Given the description of an element on the screen output the (x, y) to click on. 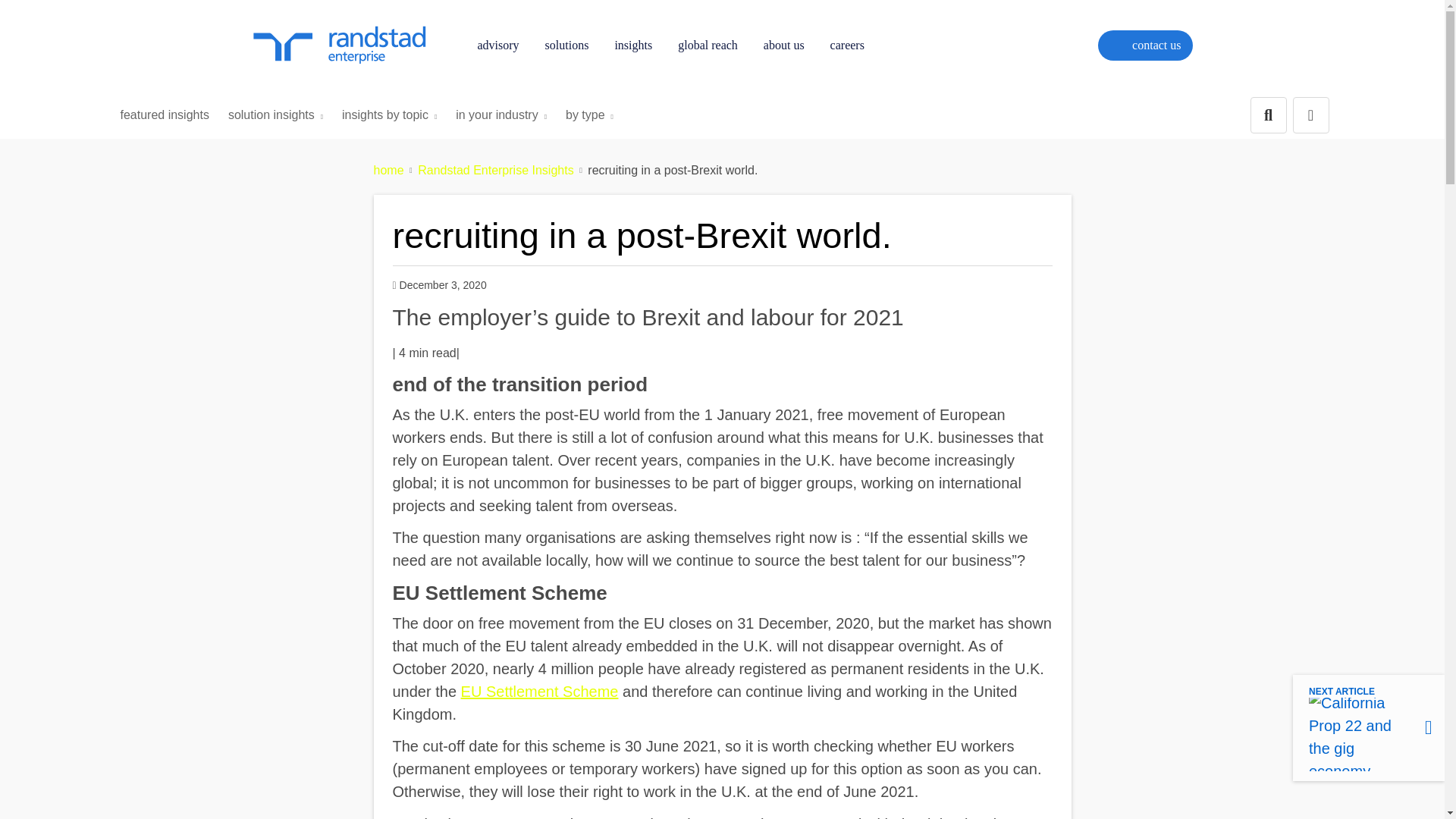
our solutions (566, 44)
advisory (497, 44)
about us (783, 44)
solutions (566, 44)
global reach (707, 44)
insights (632, 44)
advisory (497, 44)
global reach (707, 44)
